Given the description of an element on the screen output the (x, y) to click on. 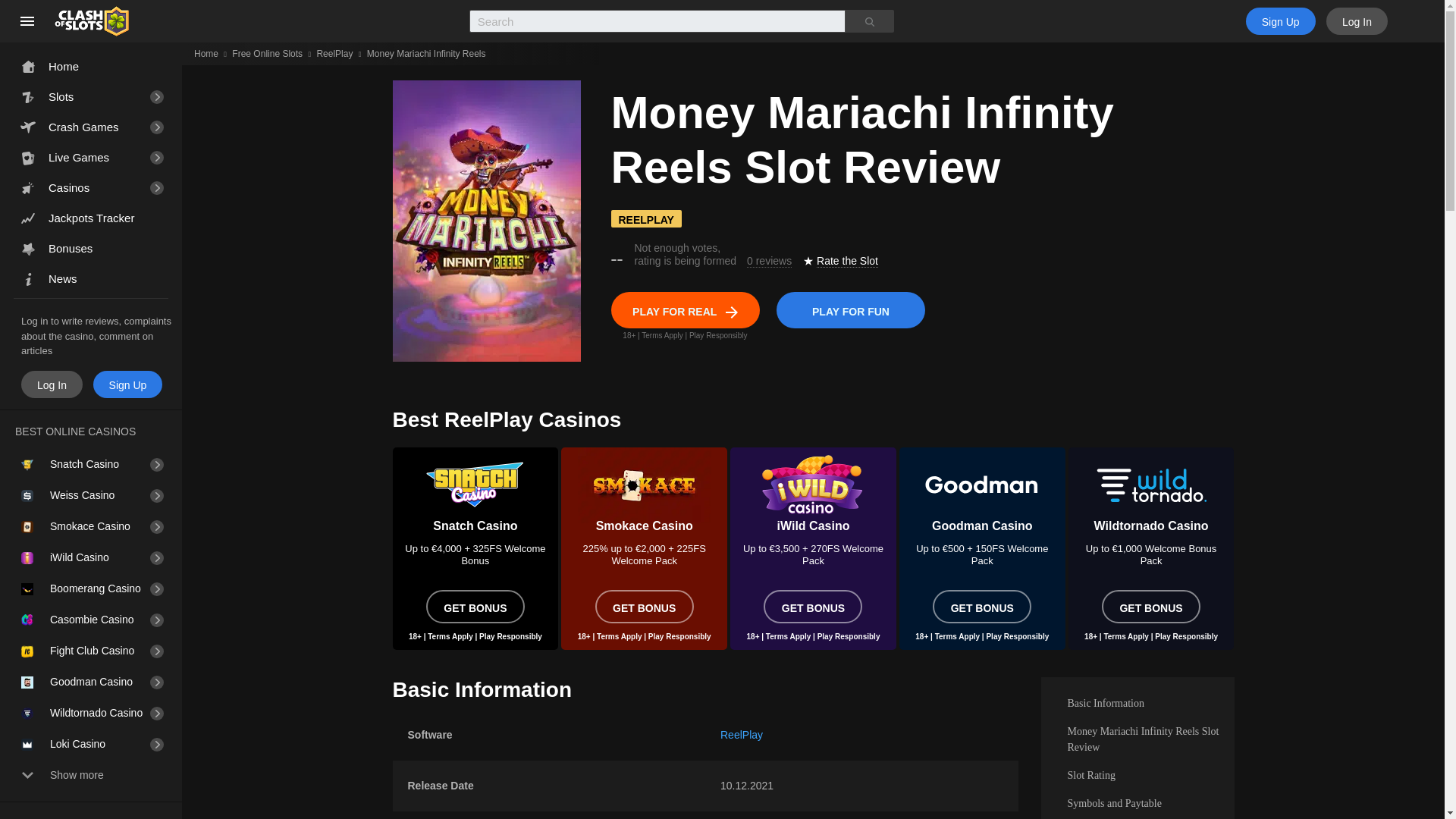
REELPLAY (646, 218)
Money Mariachi Infinity Reels Slot Review (1137, 739)
PLAY FOR REAL (685, 309)
Slot Rating (1137, 775)
GET BONUS (811, 606)
PLAY FOR FUN (850, 309)
GET BONUS (644, 606)
0 reviews (769, 261)
0 reviews (769, 261)
Free Online Slots (266, 53)
